Given the description of an element on the screen output the (x, y) to click on. 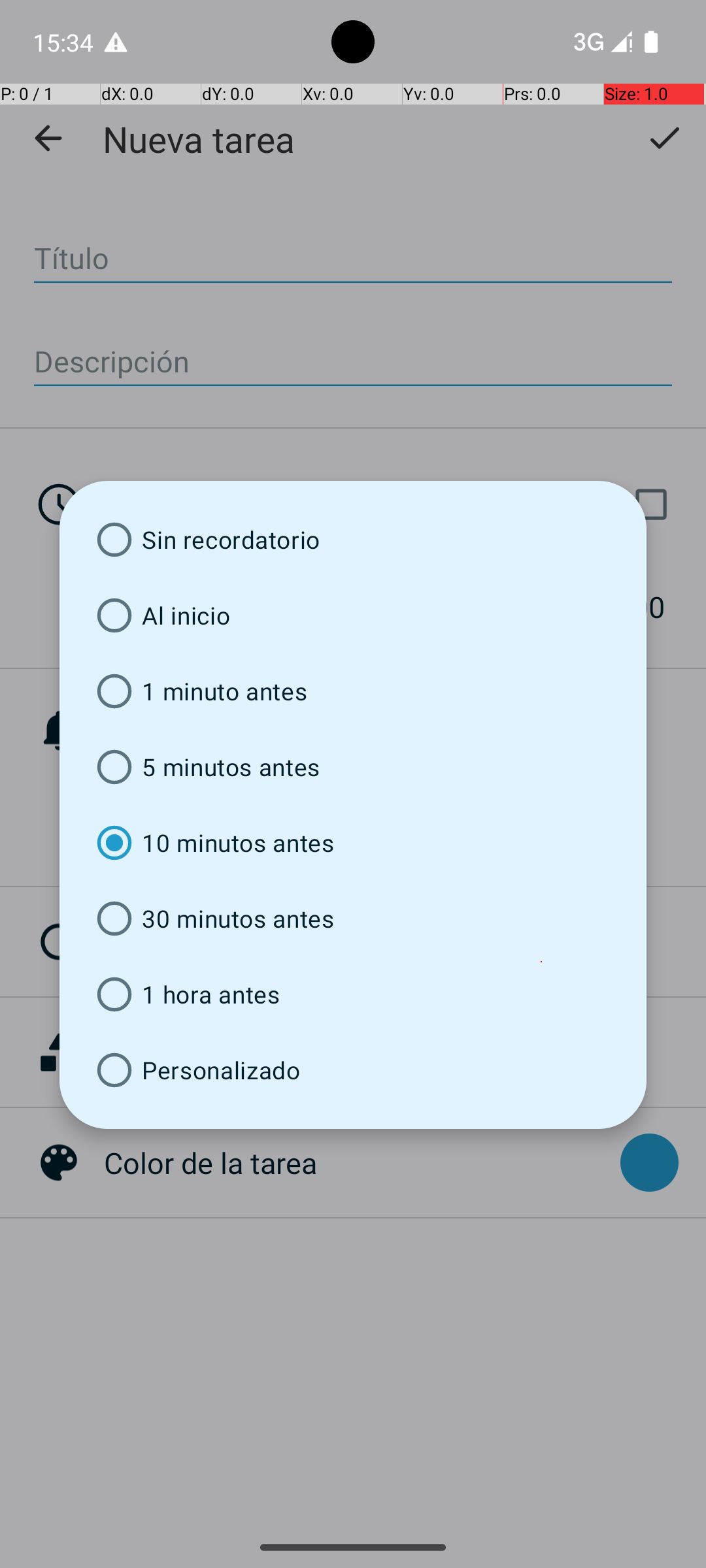
Sin recordatorio Element type: android.widget.RadioButton (352, 539)
Al inicio Element type: android.widget.RadioButton (352, 615)
1 minuto antes Element type: android.widget.RadioButton (352, 691)
5 minutos antes Element type: android.widget.RadioButton (352, 766)
10 minutos antes Element type: android.widget.RadioButton (352, 842)
30 minutos antes Element type: android.widget.RadioButton (352, 918)
1 hora antes Element type: android.widget.RadioButton (352, 994)
Personalizado Element type: android.widget.RadioButton (352, 1070)
